Given the description of an element on the screen output the (x, y) to click on. 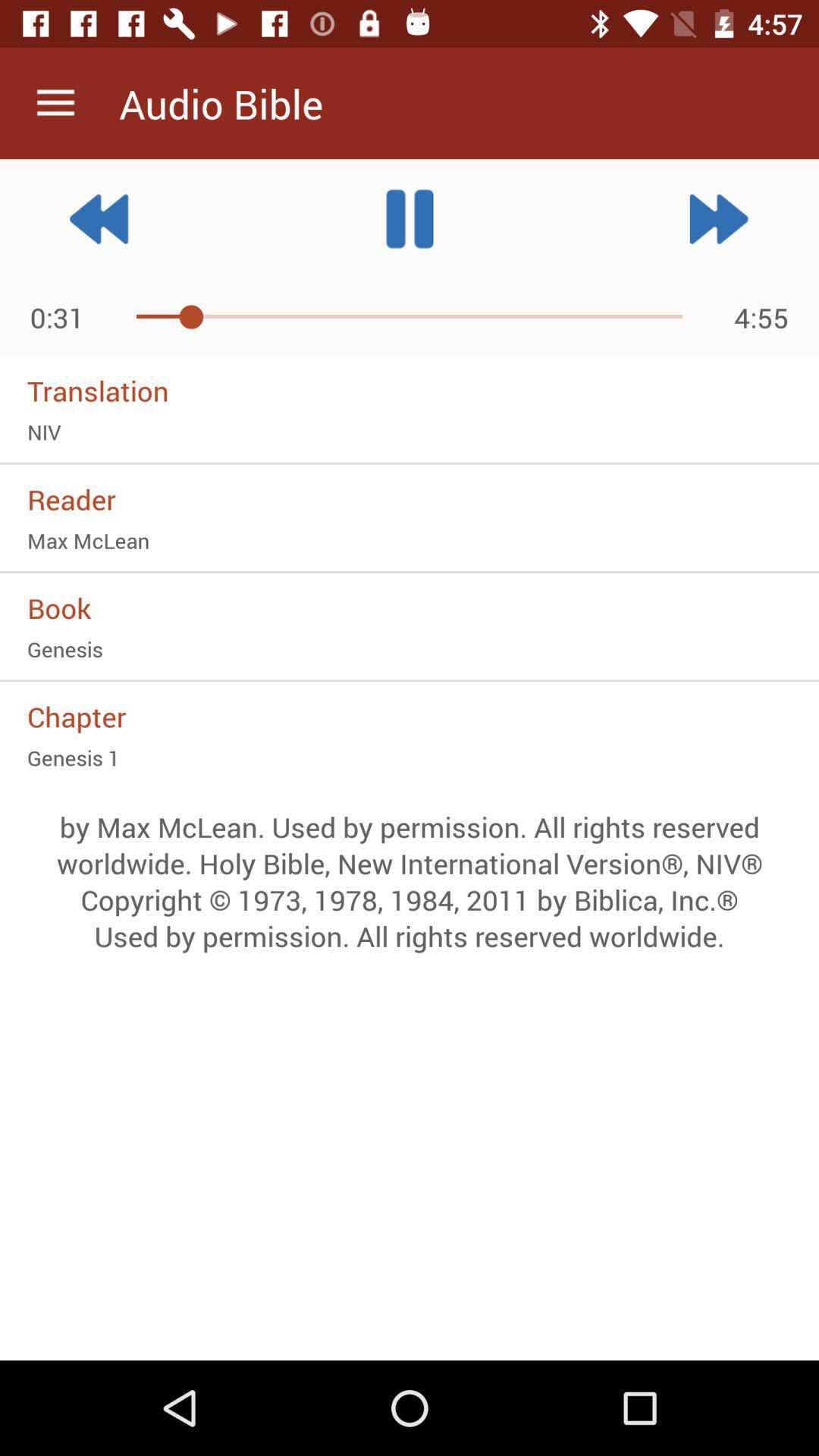
select the item below chapter (409, 757)
